Given the description of an element on the screen output the (x, y) to click on. 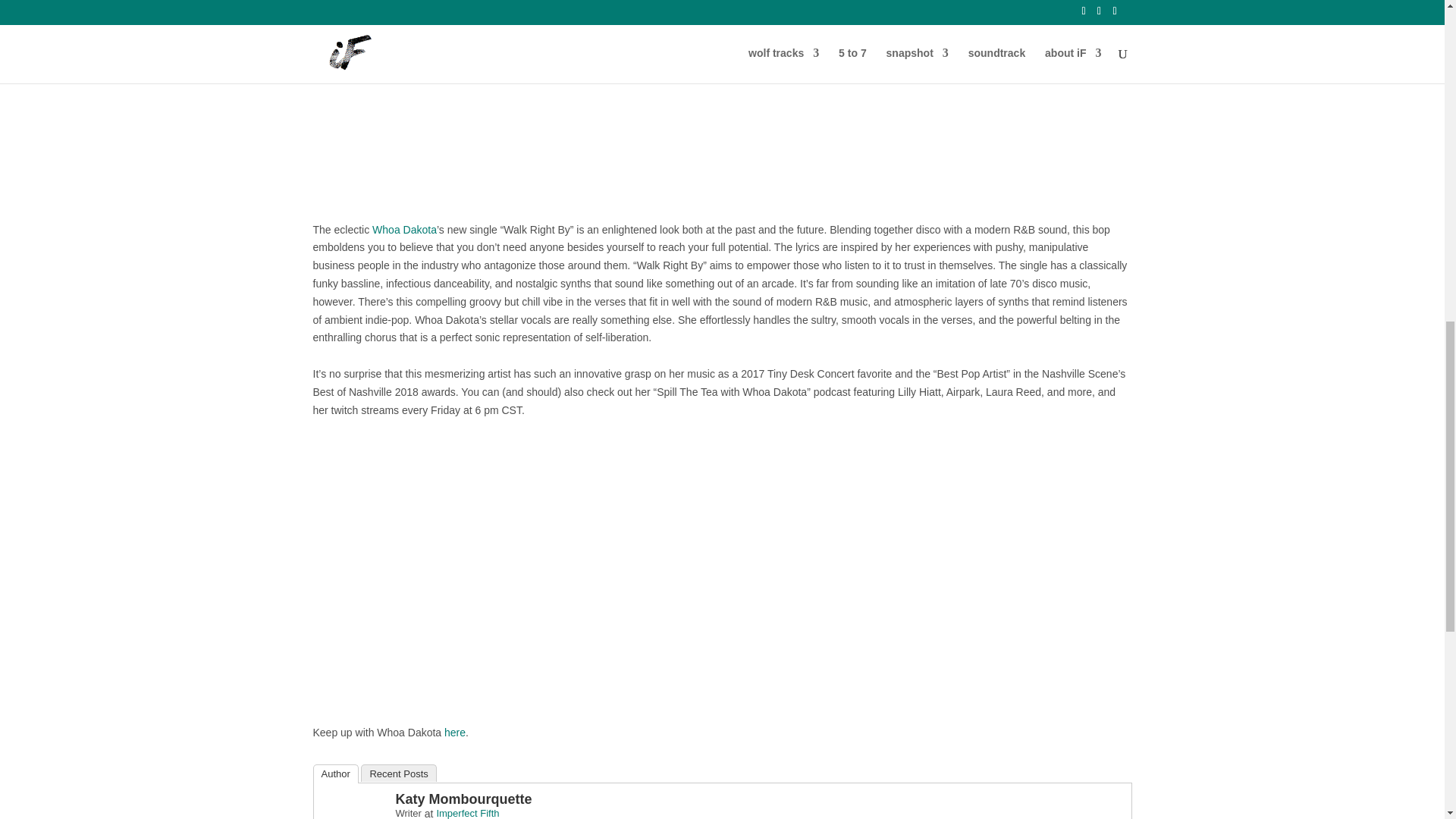
Author (335, 773)
Whoa Dakota (404, 229)
Imperfect Fifth (467, 813)
Katy Mombourquette (464, 798)
Recent Posts (398, 773)
here (454, 732)
